Given the description of an element on the screen output the (x, y) to click on. 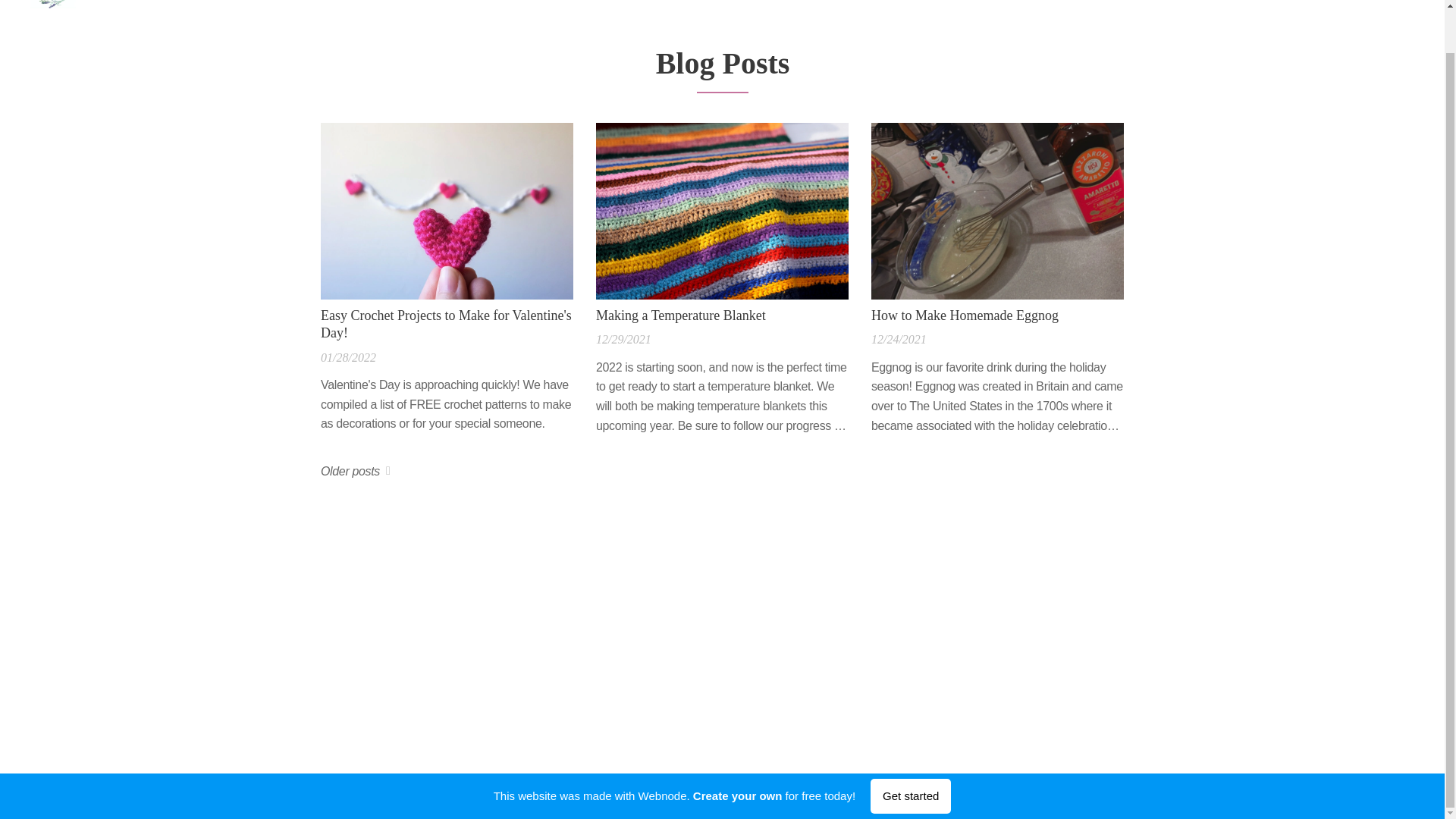
Blog (1395, 2)
Easy Crochet Projects to Make for Valentine's Day! (446, 325)
Older posts (355, 471)
Contact (1347, 2)
About us (1281, 2)
Home (1222, 2)
Making a Temperature Blanket (721, 315)
How to Make Homemade Eggnog (996, 315)
